Given the description of an element on the screen output the (x, y) to click on. 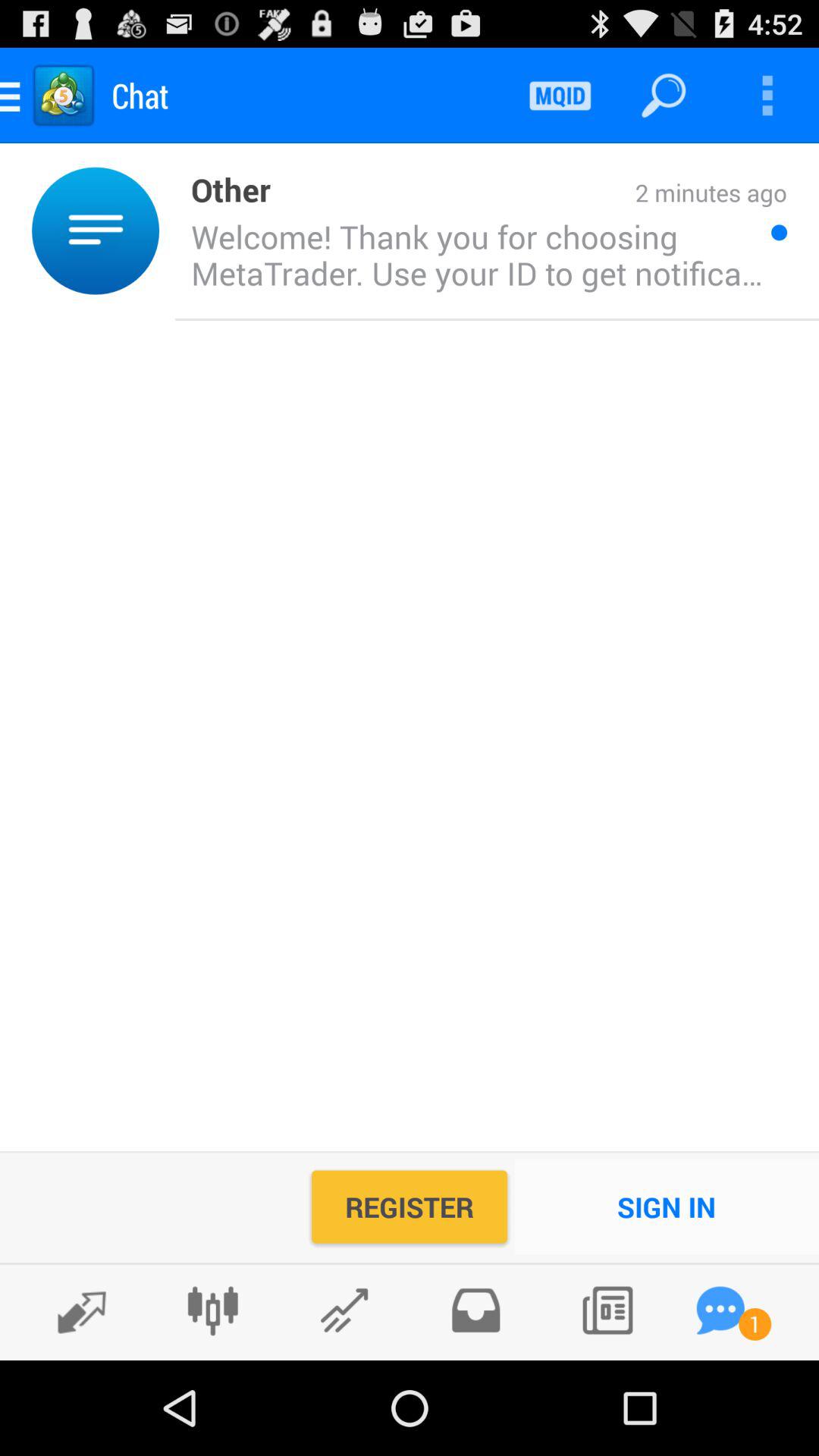
launch other (222, 188)
